Given the description of an element on the screen output the (x, y) to click on. 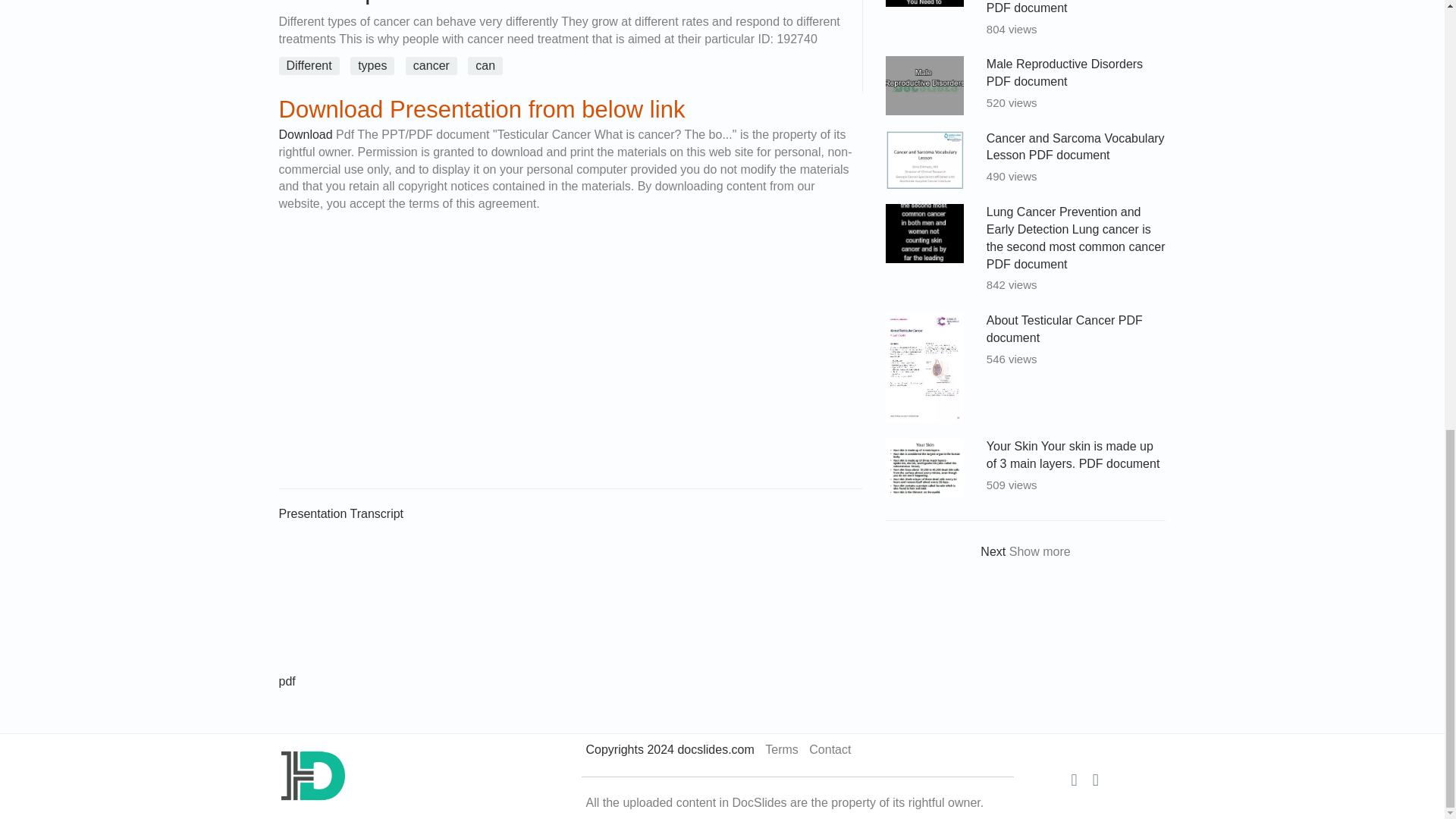
cancer (435, 65)
About Testicular Cancer PDF document (1064, 328)
can (489, 65)
Presentations on cancer (435, 65)
Download (306, 133)
Presentations on can (489, 65)
Presentations on Different (313, 65)
Presentations on types (375, 65)
Cancer and Sarcoma Vocabulary Lesson PDF document (1075, 146)
